Given the description of an element on the screen output the (x, y) to click on. 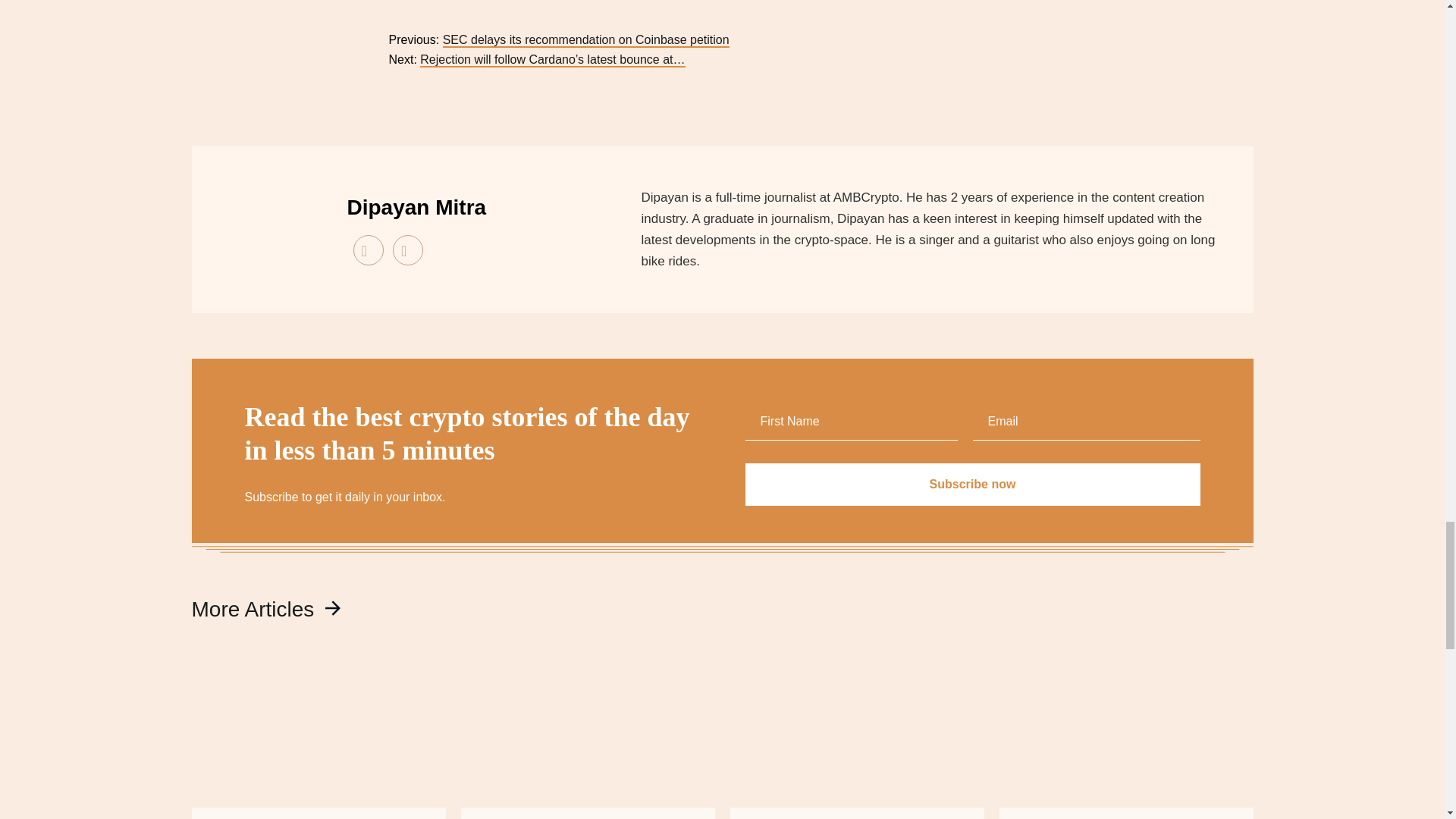
Subscribe now (971, 484)
